Given the description of an element on the screen output the (x, y) to click on. 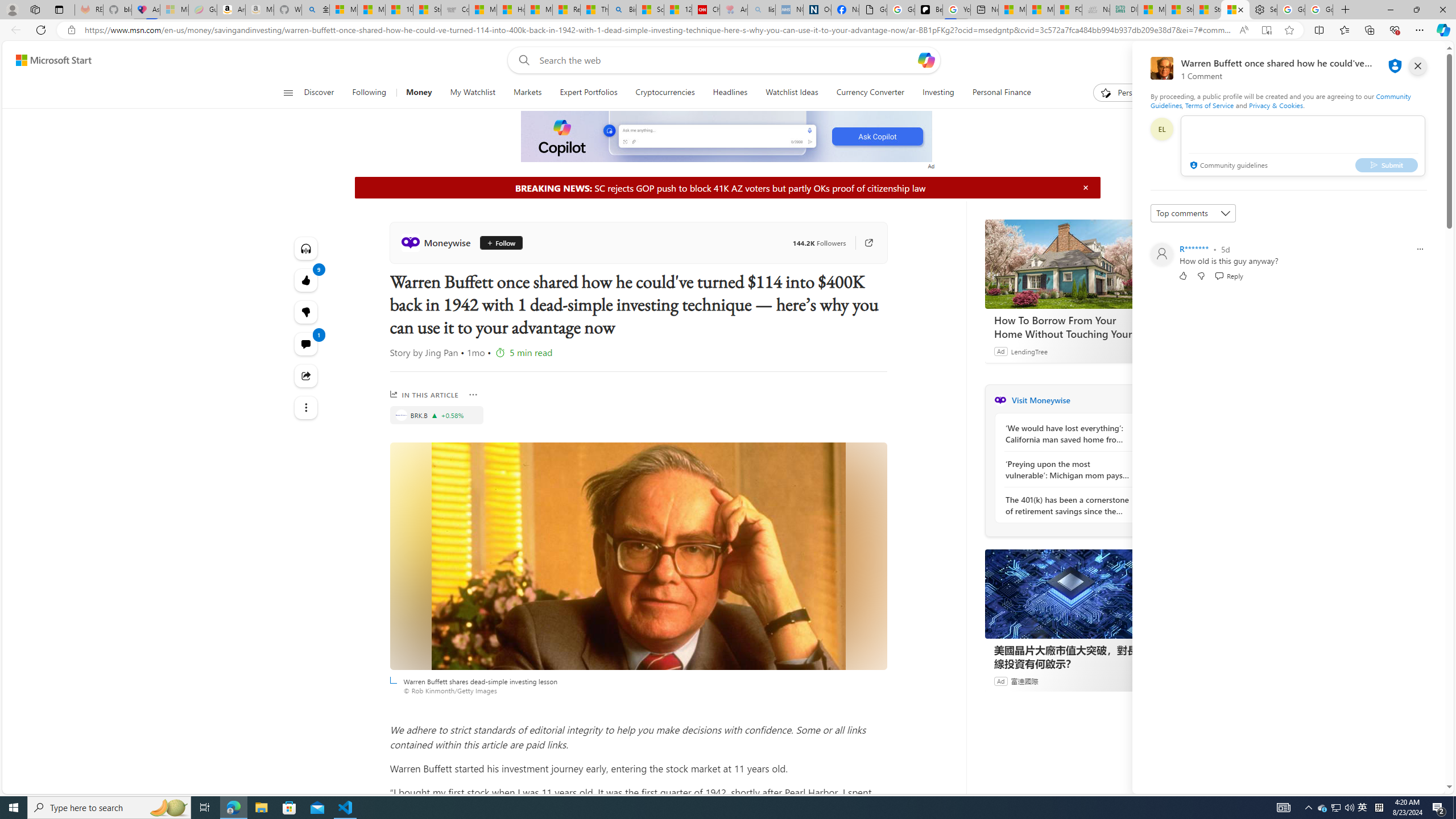
Ad Choice (1142, 680)
Web search (520, 60)
Skip to content (49, 59)
Community guidelines (1228, 165)
Google Analytics Opt-out Browser Add-on Download Page (872, 9)
Profile Picture (1161, 254)
comment-box (1302, 145)
To get missing image descriptions, open the context menu. (726, 136)
Open navigation menu (287, 92)
